Given the description of an element on the screen output the (x, y) to click on. 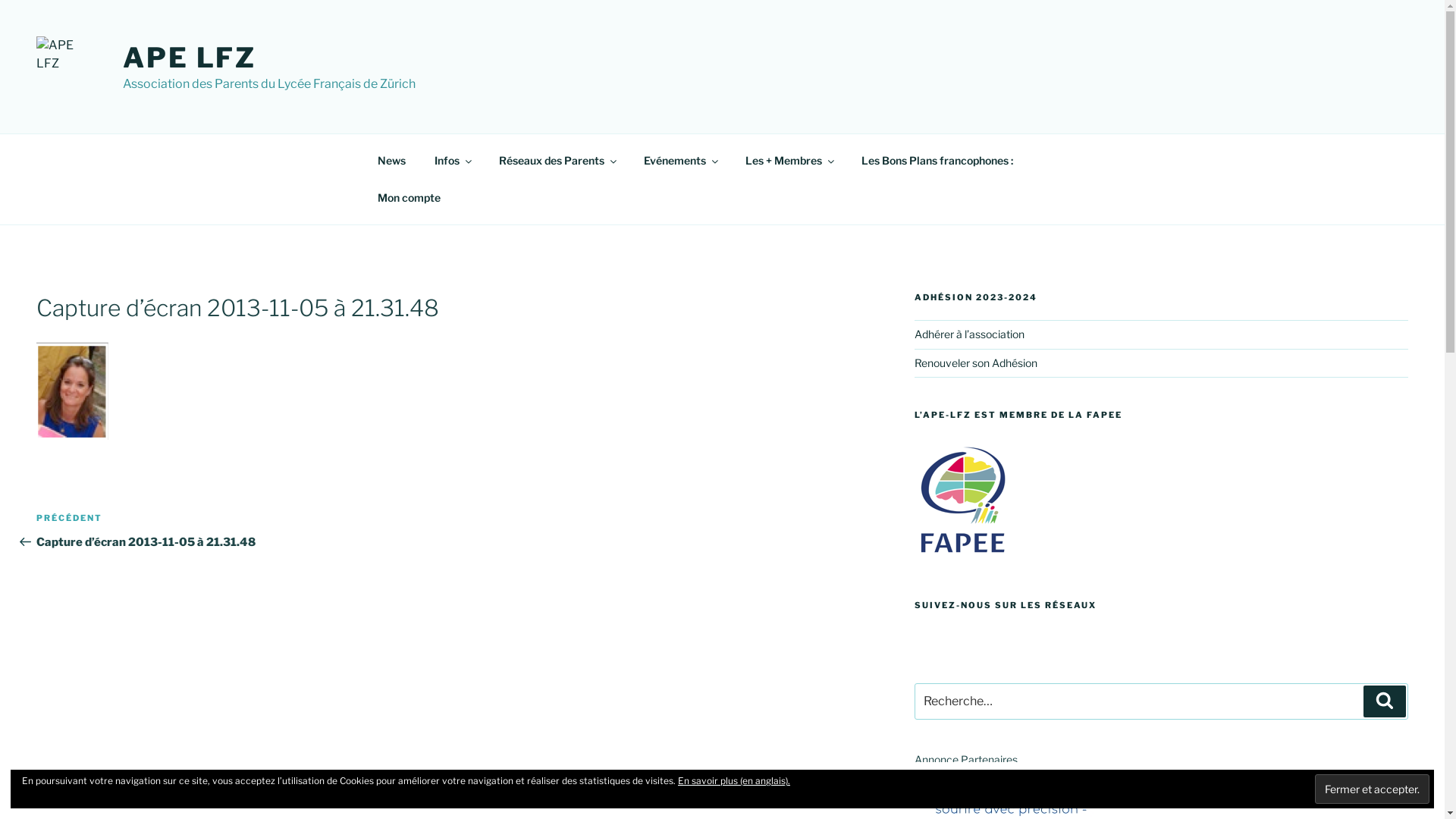
Mon compte Element type: text (408, 197)
Les Bons Plans francophones : Element type: text (936, 159)
Recherche Element type: text (1384, 701)
APE LFZ Element type: text (189, 57)
Infos Element type: text (452, 159)
En savoir plus (en anglais). Element type: text (733, 780)
Les + Membres Element type: text (789, 159)
News Element type: text (391, 159)
Fermer et accepter. Element type: text (1371, 788)
